Given the description of an element on the screen output the (x, y) to click on. 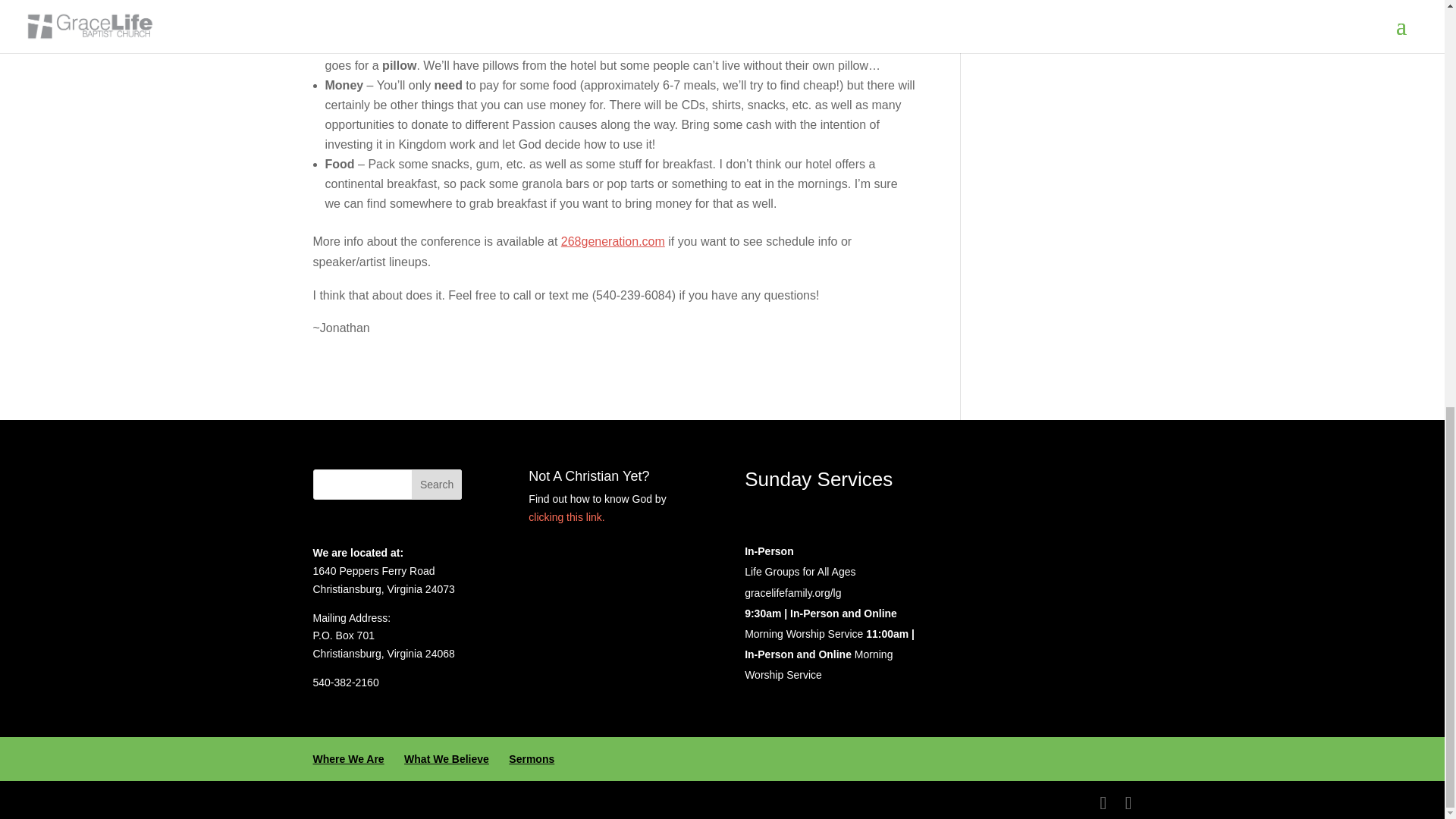
Search (436, 484)
Search (436, 484)
268generation.com (612, 241)
Passion Website (612, 241)
